Given the description of an element on the screen output the (x, y) to click on. 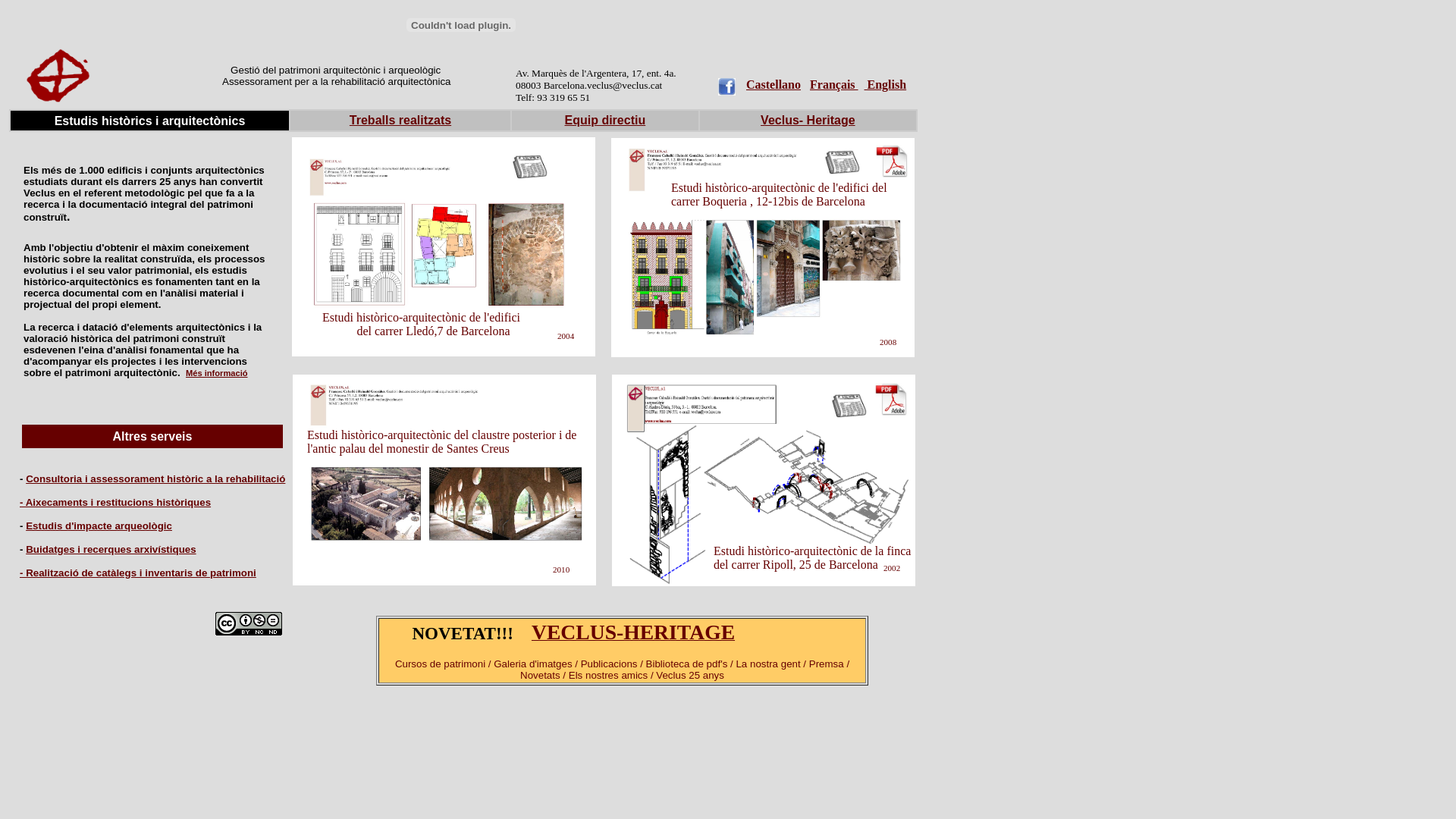
33 Element type: hover (398, 316)
Veclus Facebook Element type: hover (726, 86)
Premsa Element type: hover (529, 166)
Descarregar arxiu Element type: hover (891, 398)
Ripoll, 25 Element type: hover (763, 480)
Castellano Element type: text (773, 84)
Veclus- Heritage Element type: text (807, 119)
Premsa Element type: hover (842, 162)
Treballs realitzats Element type: text (400, 119)
VECLUS-HERITAGE Element type: text (632, 634)
Premsa Element type: hover (849, 405)
Boueria 12 Element type: hover (762, 247)
Equip directiu Element type: text (605, 119)
English Element type: text (885, 84)
Logo Element type: hover (58, 75)
Santes Creus Element type: hover (444, 479)
Descarregar arxiu Element type: hover (891, 160)
